Given the description of an element on the screen output the (x, y) to click on. 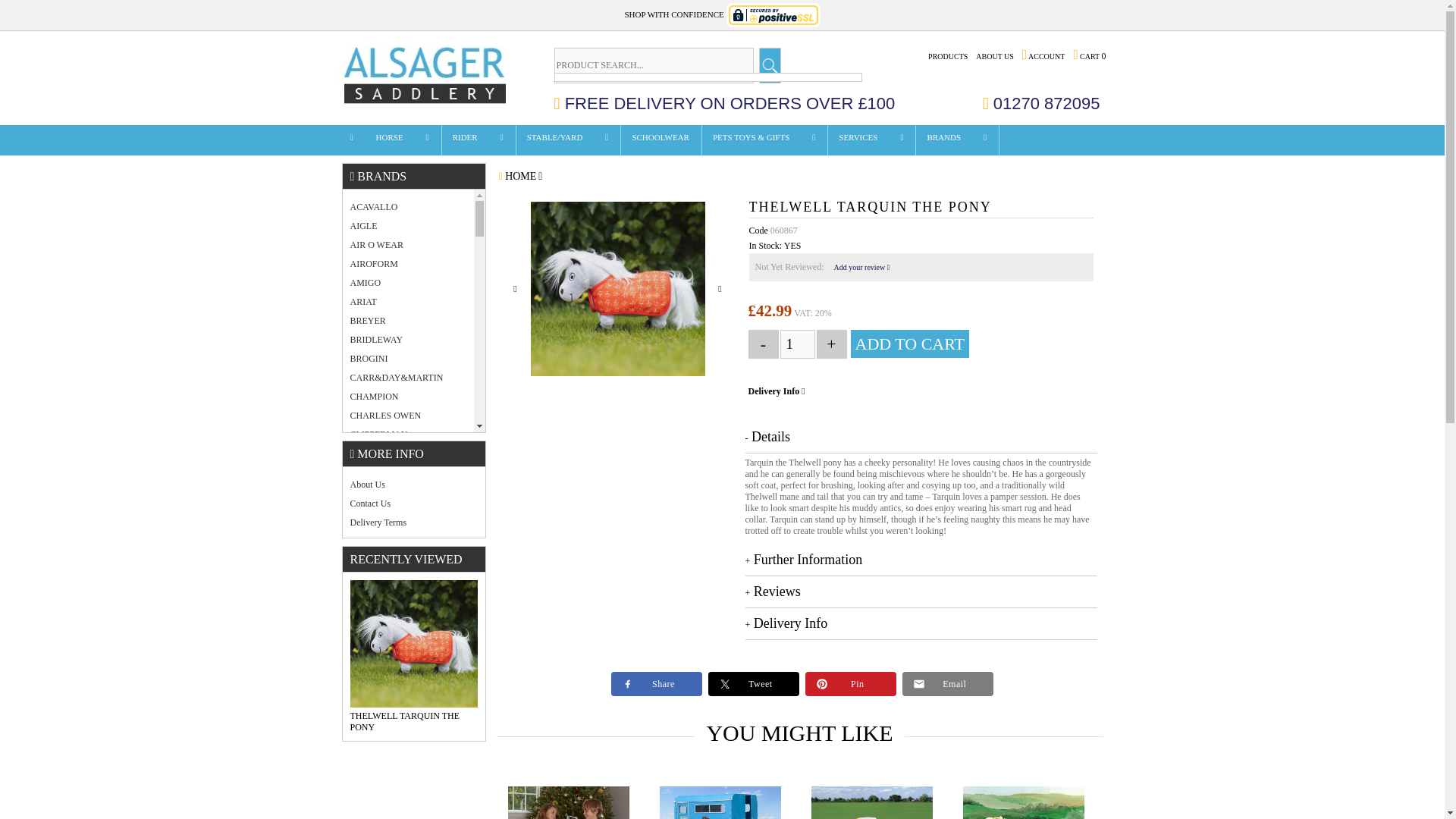
1 (795, 344)
RIDER (465, 141)
024520 (719, 802)
PRODUCTS (947, 56)
SCHOOLWEAR (661, 141)
CART 0 (1088, 56)
- (762, 344)
SERVICES (858, 141)
ACCOUNT (1042, 56)
ABOUT US (994, 56)
Alsager Saddlery  (427, 76)
BRANDS (943, 141)
024519 (871, 802)
059784 (1023, 802)
034152 (568, 802)
